Given the description of an element on the screen output the (x, y) to click on. 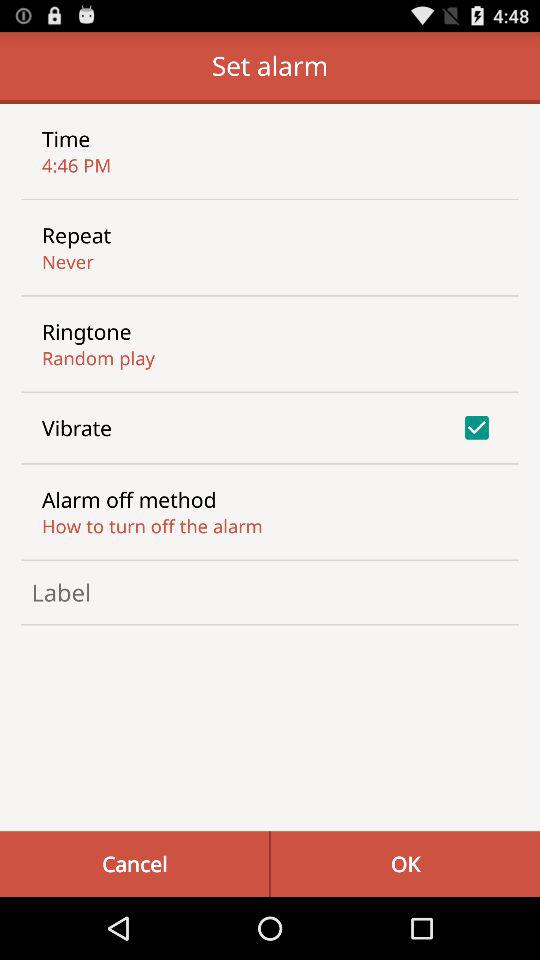
reminder for event (270, 592)
